Given the description of an element on the screen output the (x, y) to click on. 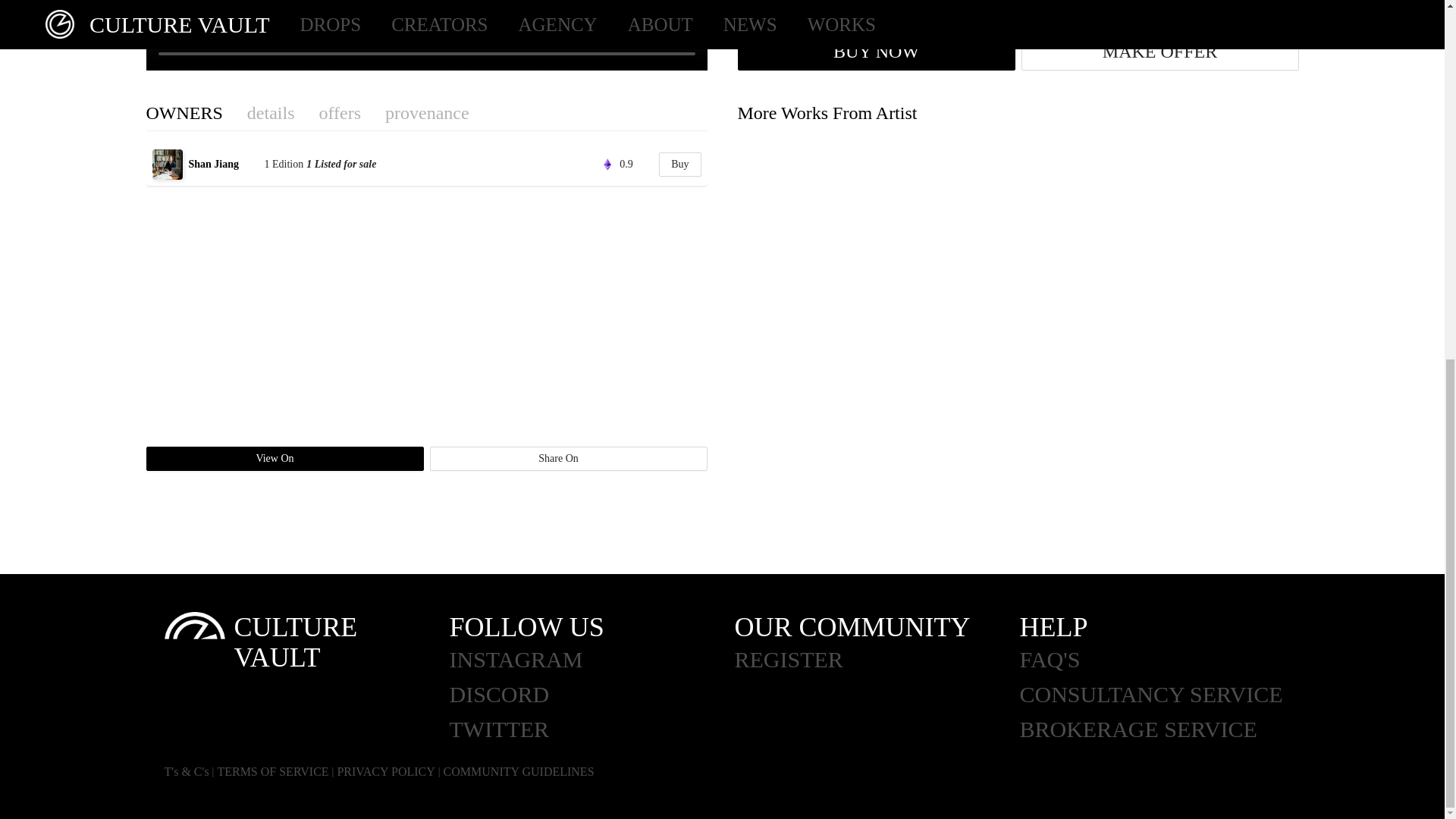
CONSULTANCY SERVICE (1161, 694)
View On (284, 458)
PRIVACY POLICY (384, 771)
TWITTER (590, 728)
BROKERAGE SERVICE (1161, 728)
DISCORD (590, 694)
Shan Jiang (223, 164)
INSTAGRAM (590, 659)
TERMS OF SERVICE (272, 771)
MAKE OFFER (1159, 51)
Buy (679, 164)
COMMUNITY GUIDELINES (519, 771)
FAQ'S (1161, 659)
Share On (567, 458)
REGISTER (876, 659)
